Given the description of an element on the screen output the (x, y) to click on. 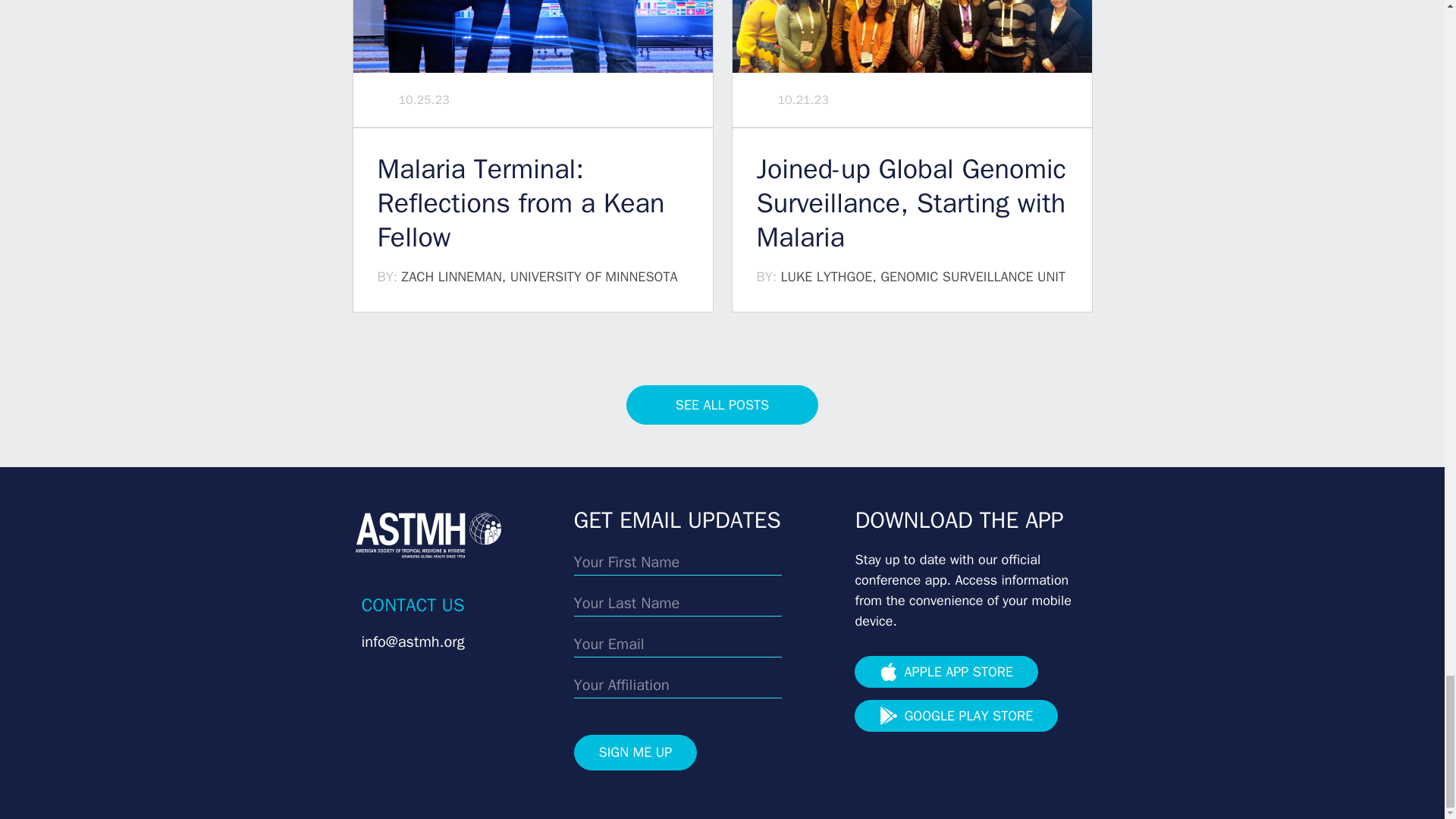
Malaria Terminal: Reflections from a Kean Fellow (532, 203)
GOOGLE PLAY STORE (956, 716)
CONTACT US (412, 604)
SIGN ME UP (635, 752)
APPLE APP STORE (946, 671)
SEE ALL POSTS (722, 404)
Joined-up Global Genomic Surveillance, Starting with Malaria (912, 203)
